Given the description of an element on the screen output the (x, y) to click on. 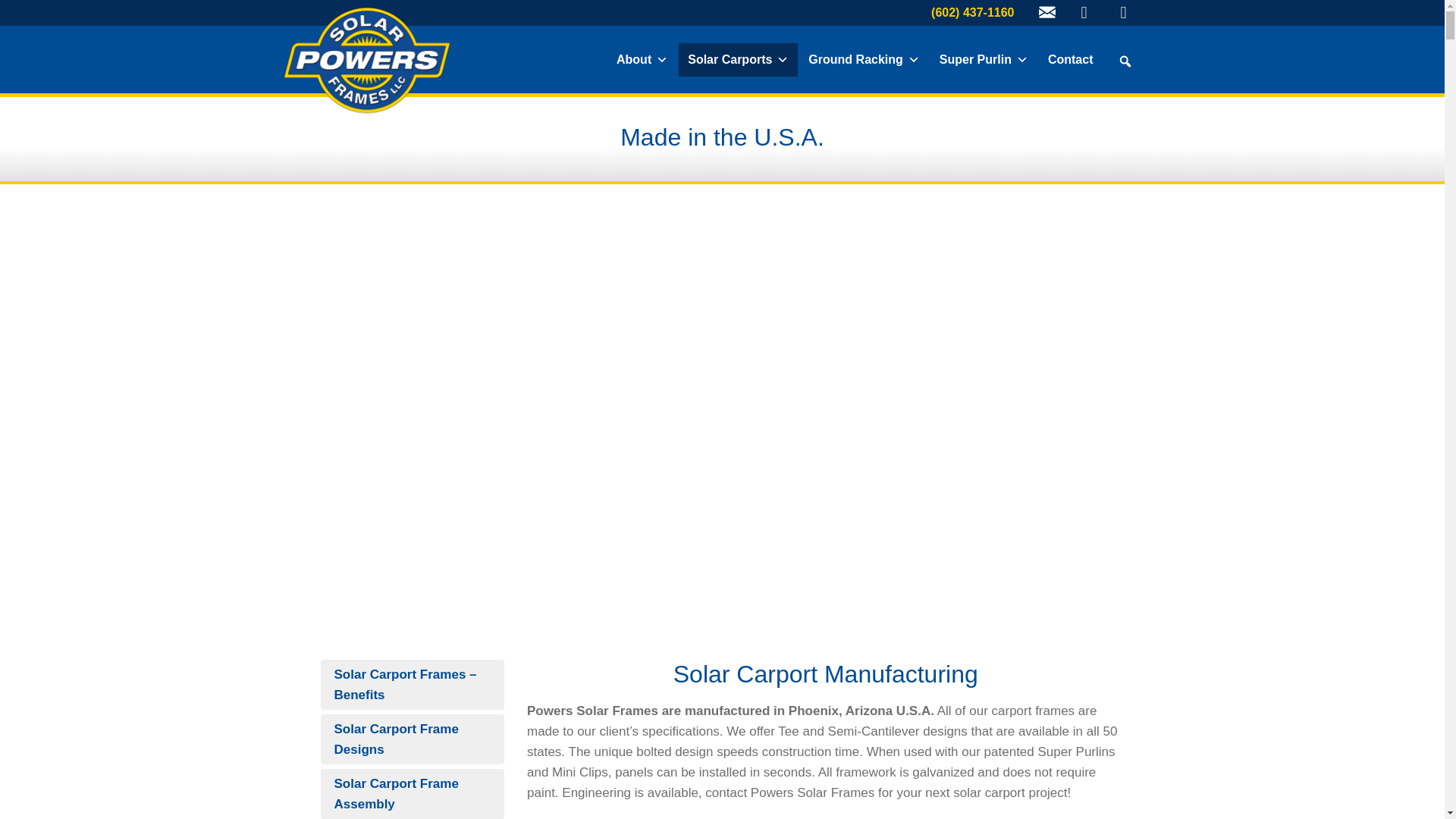
Instagram (1083, 12)
Ground Racking (863, 59)
Solar Carports (737, 59)
youtube (1123, 12)
Email Us (1047, 12)
Super Purlin (983, 59)
About (642, 59)
Email Us (1046, 13)
